Given the description of an element on the screen output the (x, y) to click on. 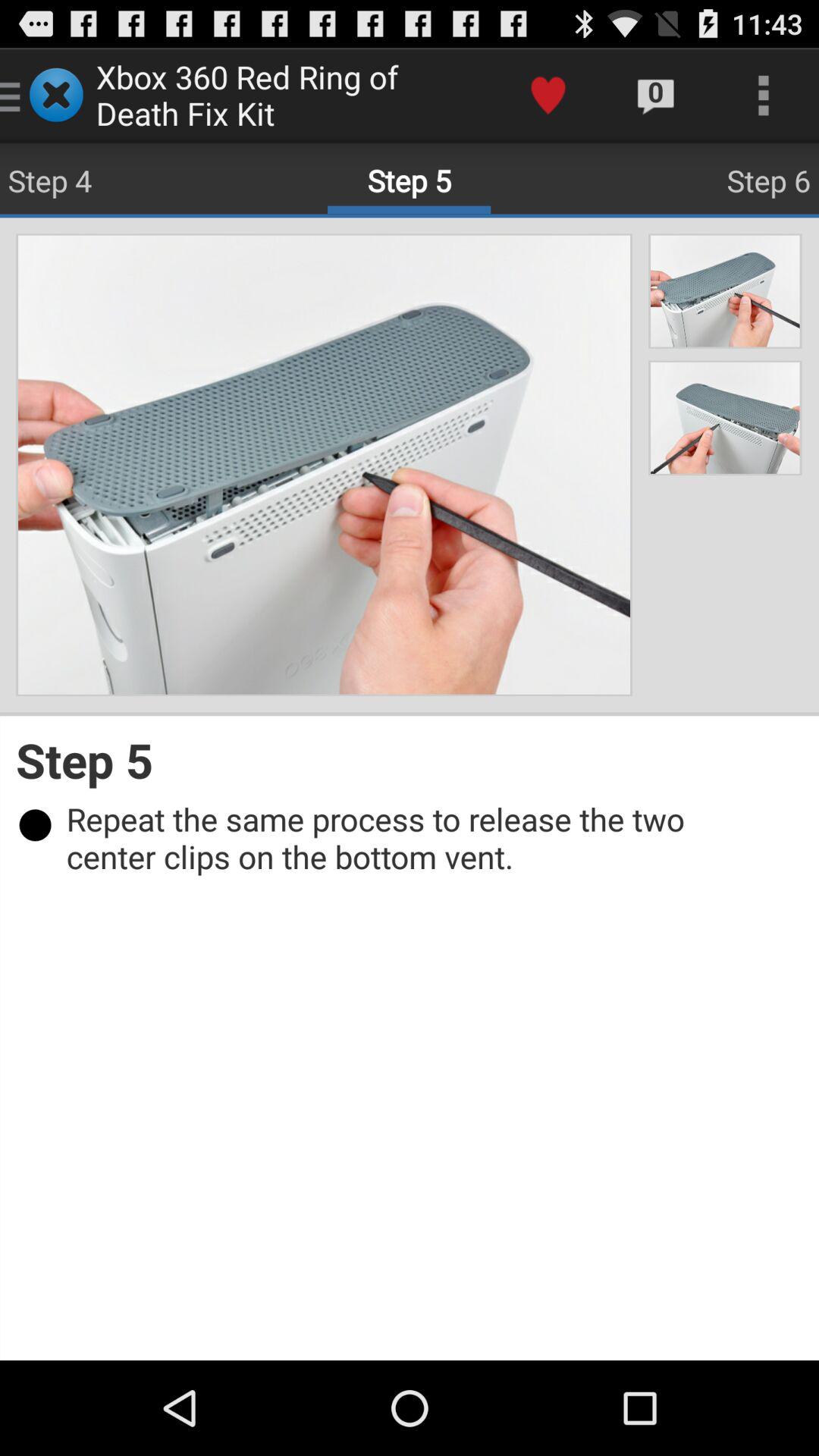
press app to the right of xbox 360 red item (548, 95)
